Given the description of an element on the screen output the (x, y) to click on. 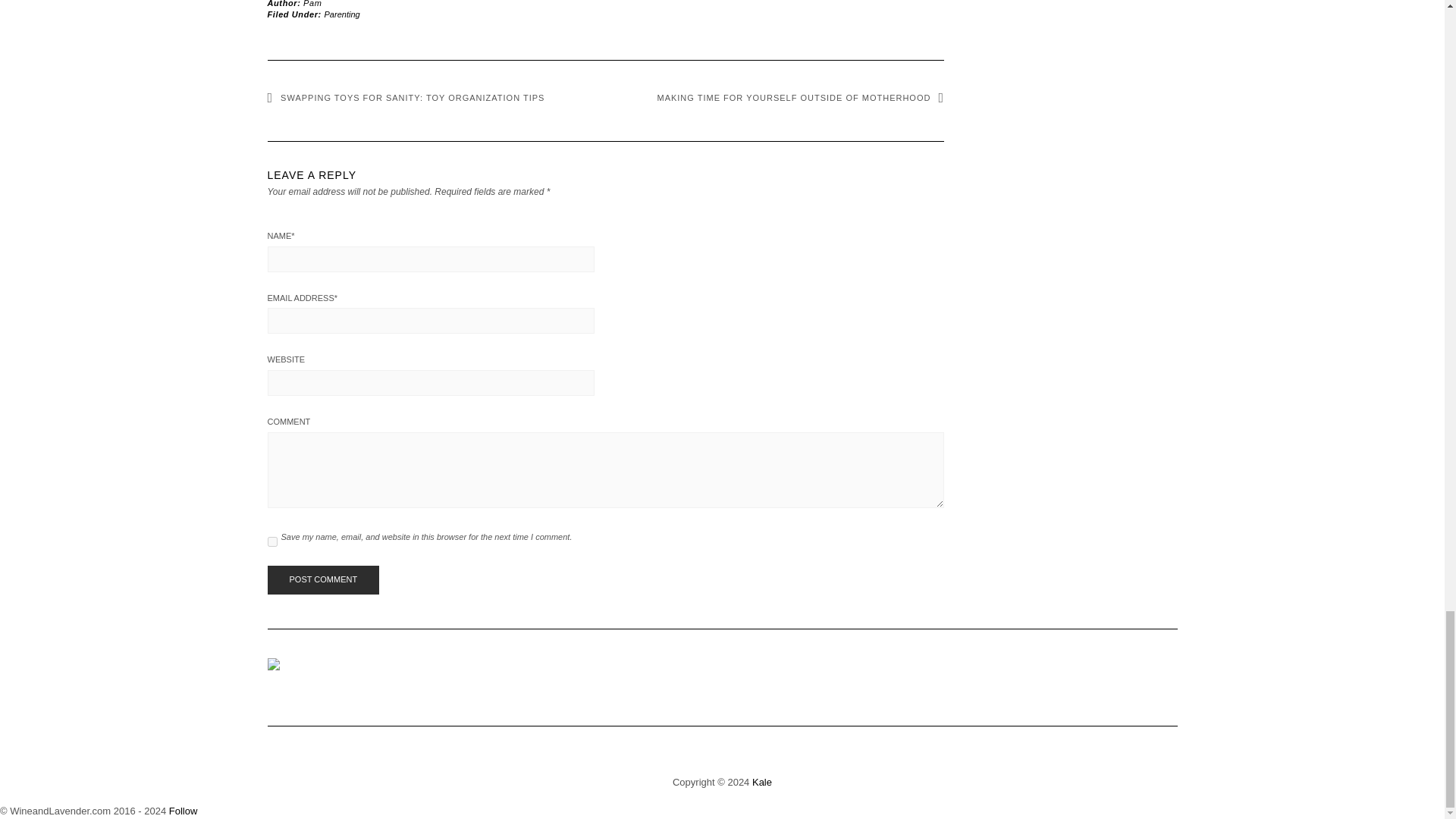
yes (271, 542)
SWAPPING TOYS FOR SANITY: TOY ORGANIZATION TIPS (405, 97)
Parenting (341, 13)
MAKING TIME FOR YOURSELF OUTSIDE OF MOTHERHOOD (799, 97)
Post Comment (322, 579)
Pam (311, 3)
Post Comment (322, 579)
Posts by Pam (311, 3)
